Given the description of an element on the screen output the (x, y) to click on. 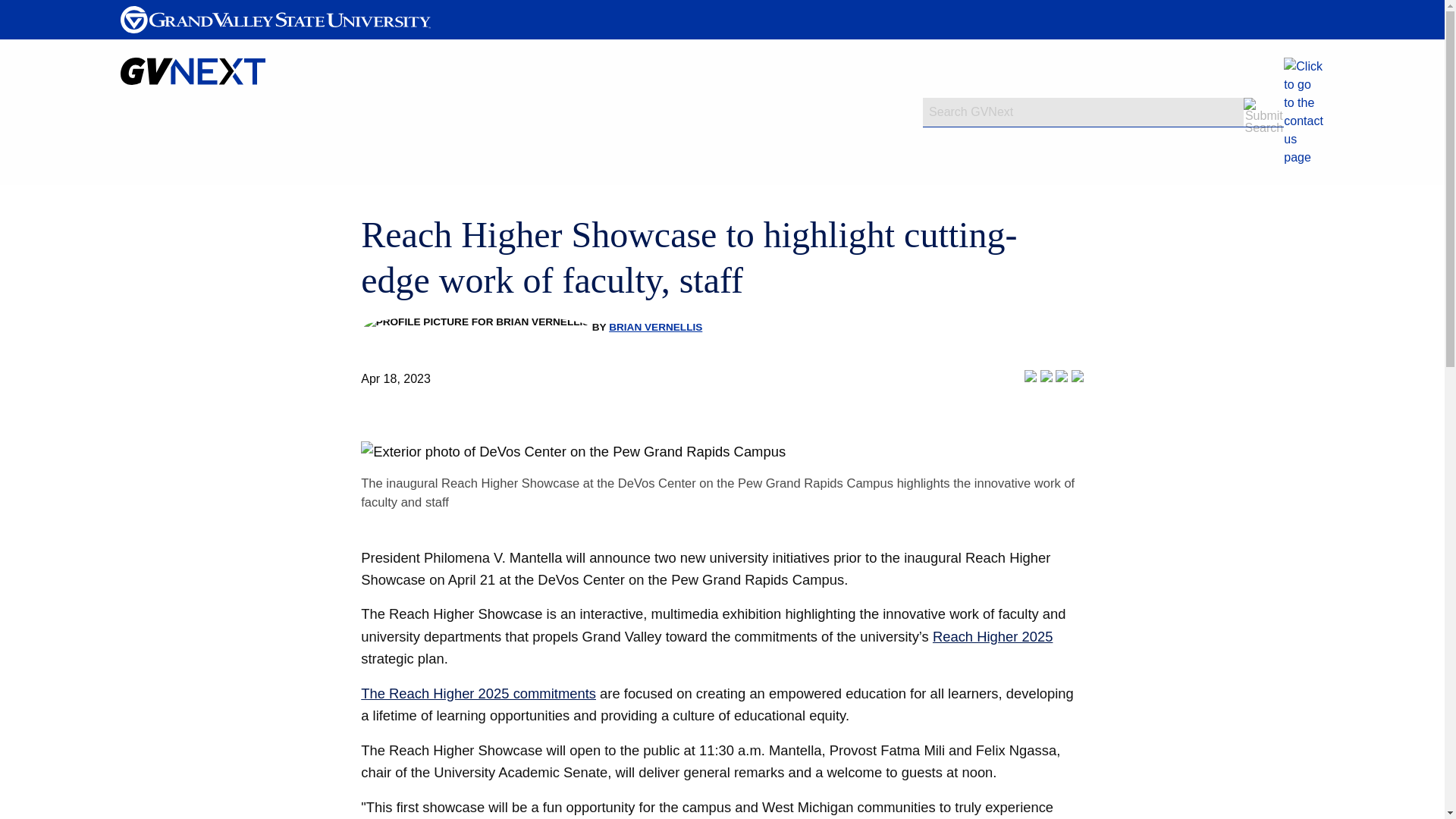
Reach Higher 2025 (992, 636)
BRIAN VERNELLIS (654, 326)
The Reach Higher 2025 commitments (478, 693)
